Given the description of an element on the screen output the (x, y) to click on. 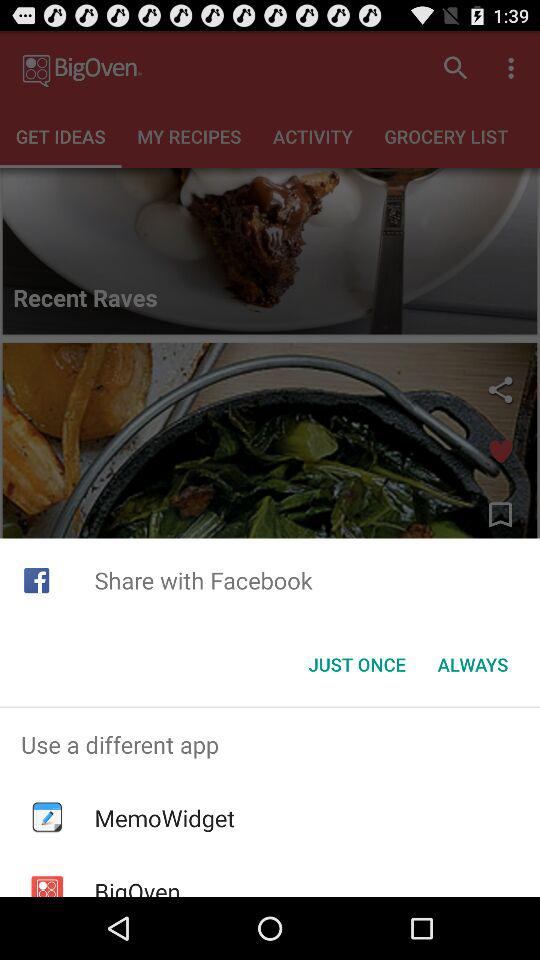
press item at the bottom right corner (472, 664)
